Given the description of an element on the screen output the (x, y) to click on. 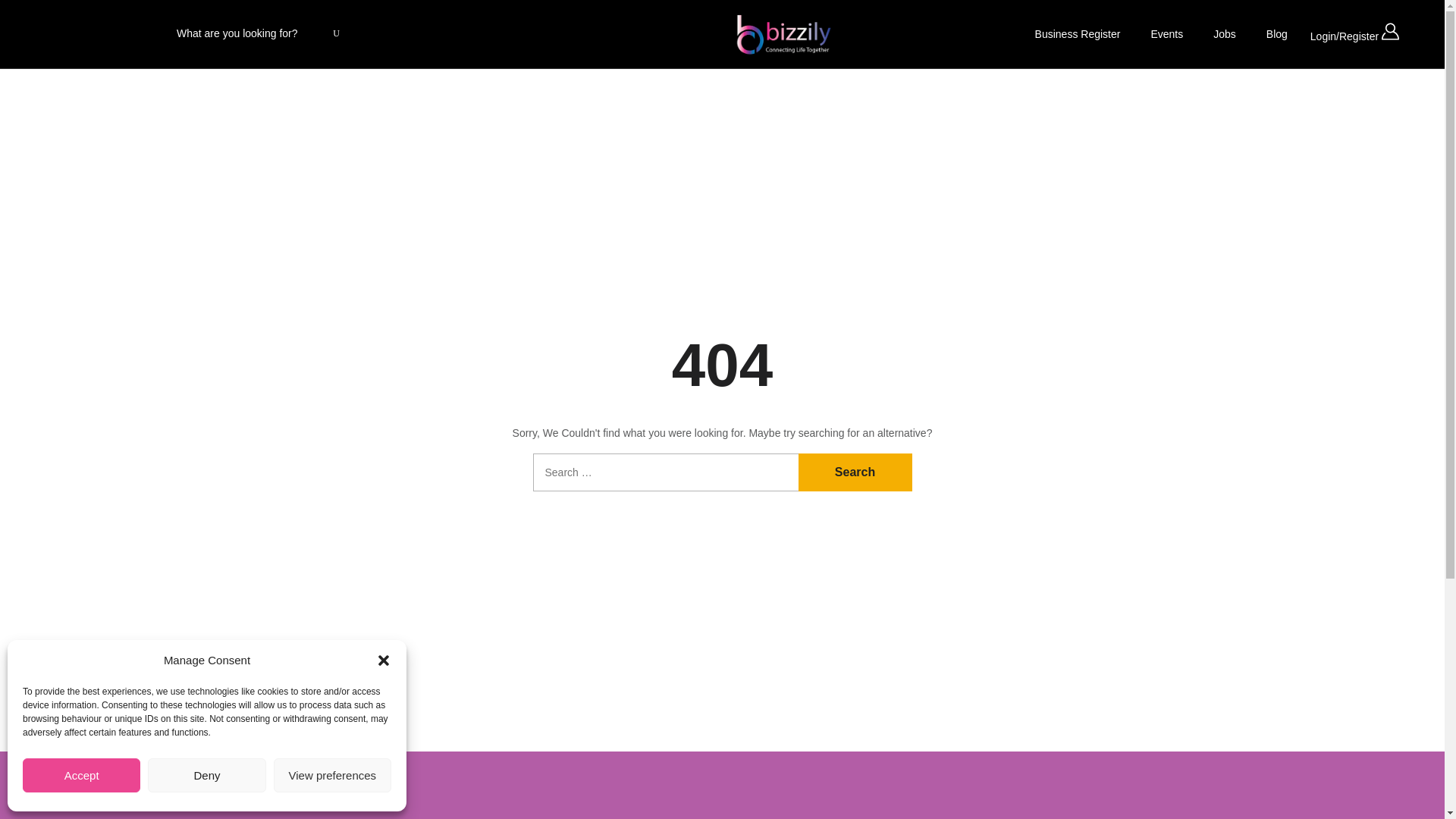
Search (854, 472)
Accept (81, 775)
Business Register (1077, 33)
Search (854, 472)
Deny (206, 775)
View preferences (332, 775)
Events (1166, 33)
Search (854, 472)
